Given the description of an element on the screen output the (x, y) to click on. 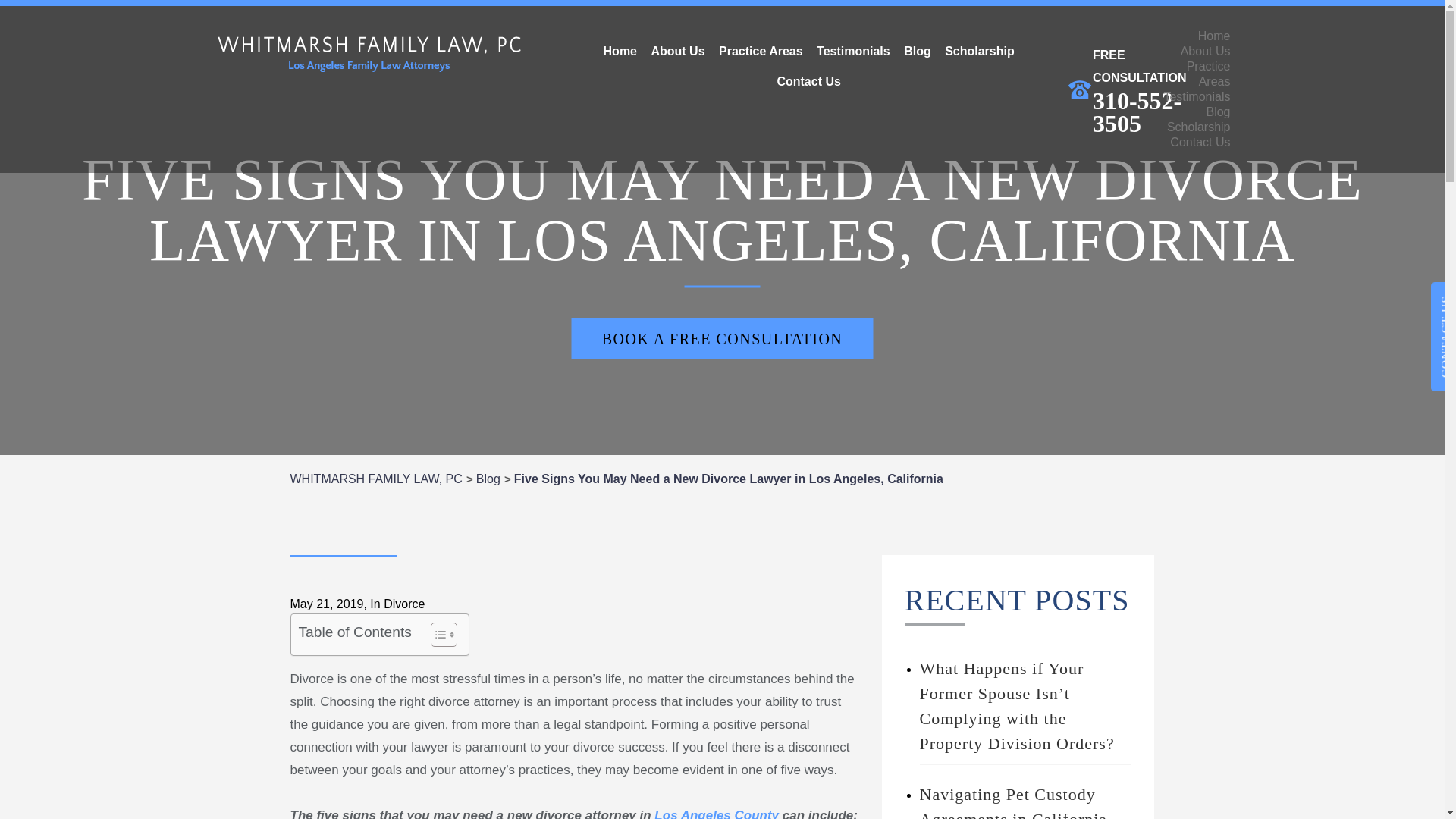
Scholarship (979, 51)
Testimonials (852, 51)
Home (1214, 36)
WHITMARSH FAMILY LAW, PC (375, 478)
Practice Areas (760, 51)
Blog (917, 51)
Contact Us (808, 81)
310-552-3505 (1139, 112)
About Us (677, 51)
Home (620, 51)
